Given the description of an element on the screen output the (x, y) to click on. 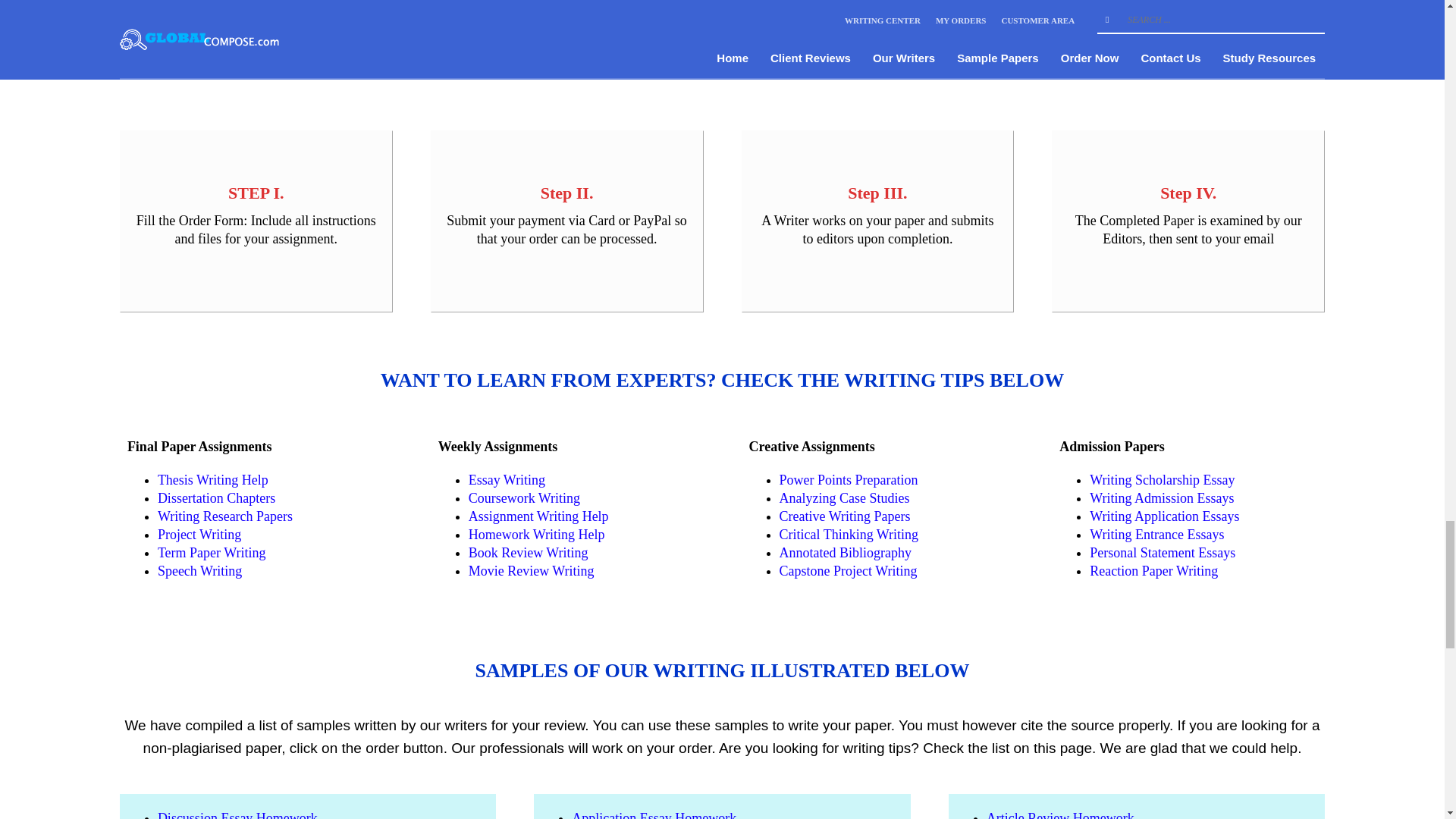
Dissertation Chapters (216, 498)
Thesis Writing Help (212, 479)
